Given the description of an element on the screen output the (x, y) to click on. 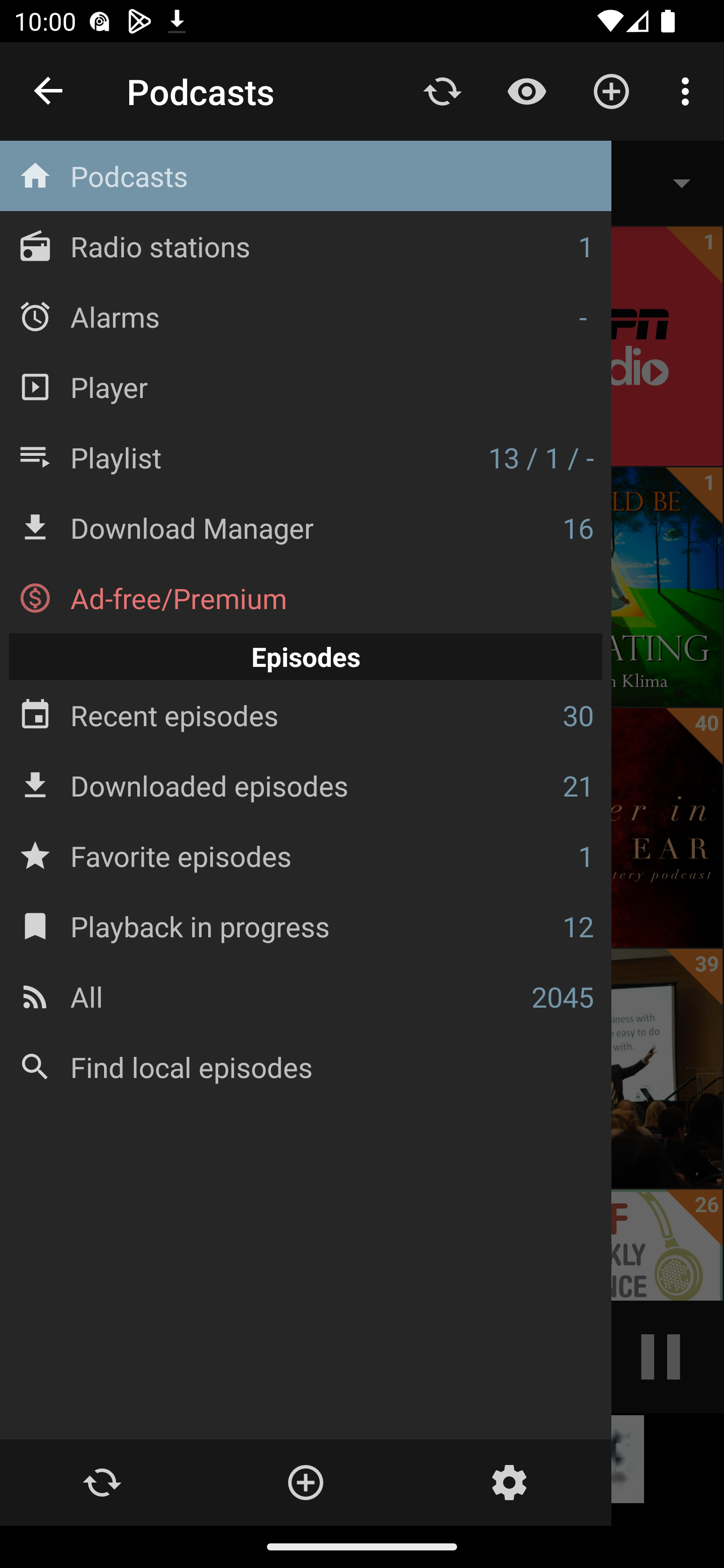
Close navigation sidebar (49, 91)
Update (442, 90)
Show / Hide played content (526, 90)
Add new Podcast (611, 90)
More options (688, 90)
Podcasts (305, 176)
Radio stations 1 (305, 245)
Alarms  -  (305, 315)
Player (305, 386)
Playlist 13 / 1 / - (305, 456)
Download Manager 16 (305, 527)
Ad-free/Premium (305, 597)
Recent episodes 30 (305, 715)
Downloaded episodes 21 (305, 785)
Favorite episodes 1 (305, 855)
Playback in progress 12 (305, 925)
All 2045 (305, 996)
Find local episodes (305, 1066)
Update (101, 1482)
Add new Podcast (304, 1482)
Settings (508, 1482)
